Given the description of an element on the screen output the (x, y) to click on. 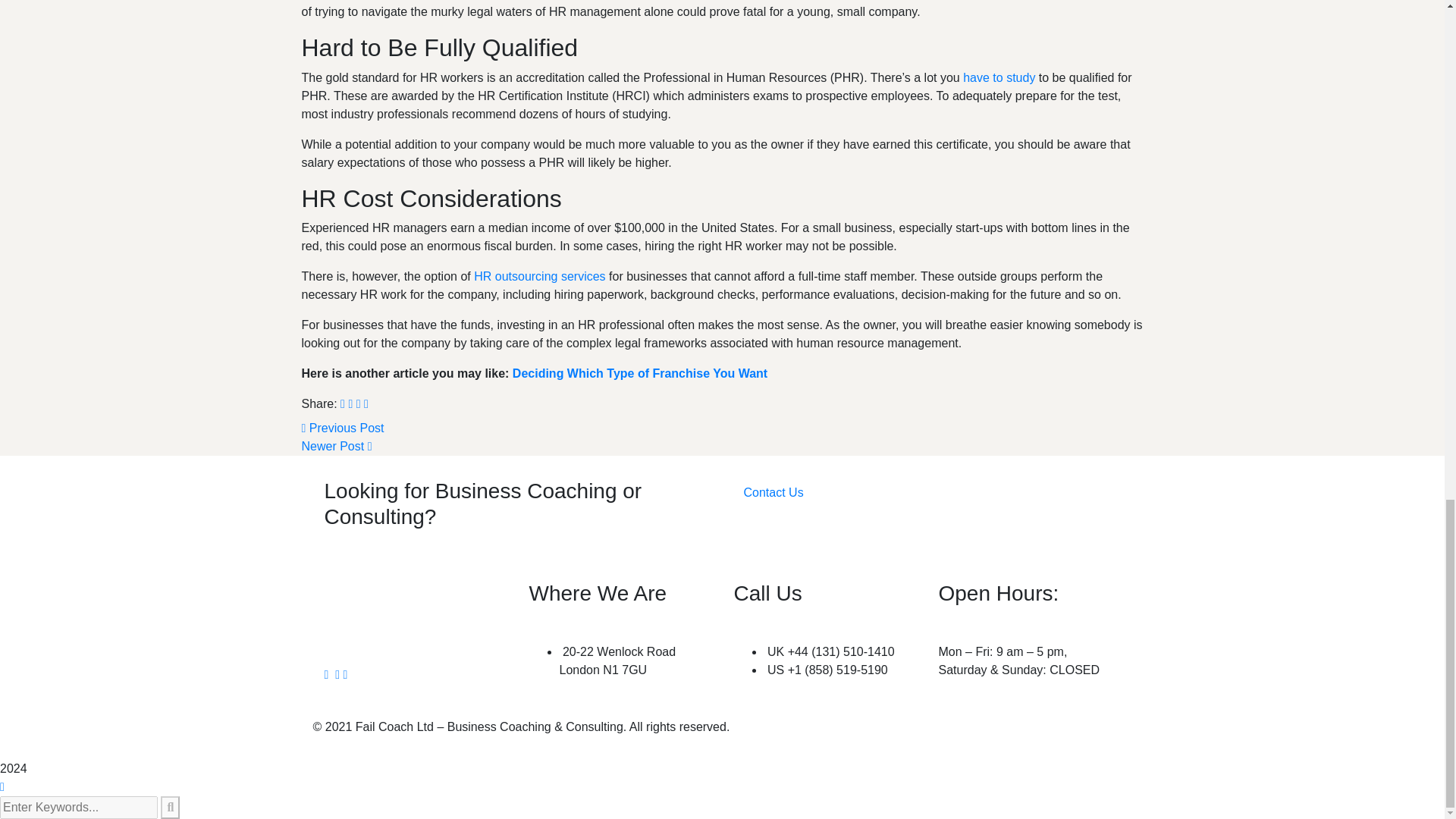
Deciding Which Type of Franchise You Want (639, 373)
HR outsourcing services (539, 276)
have to study (998, 77)
